Given the description of an element on the screen output the (x, y) to click on. 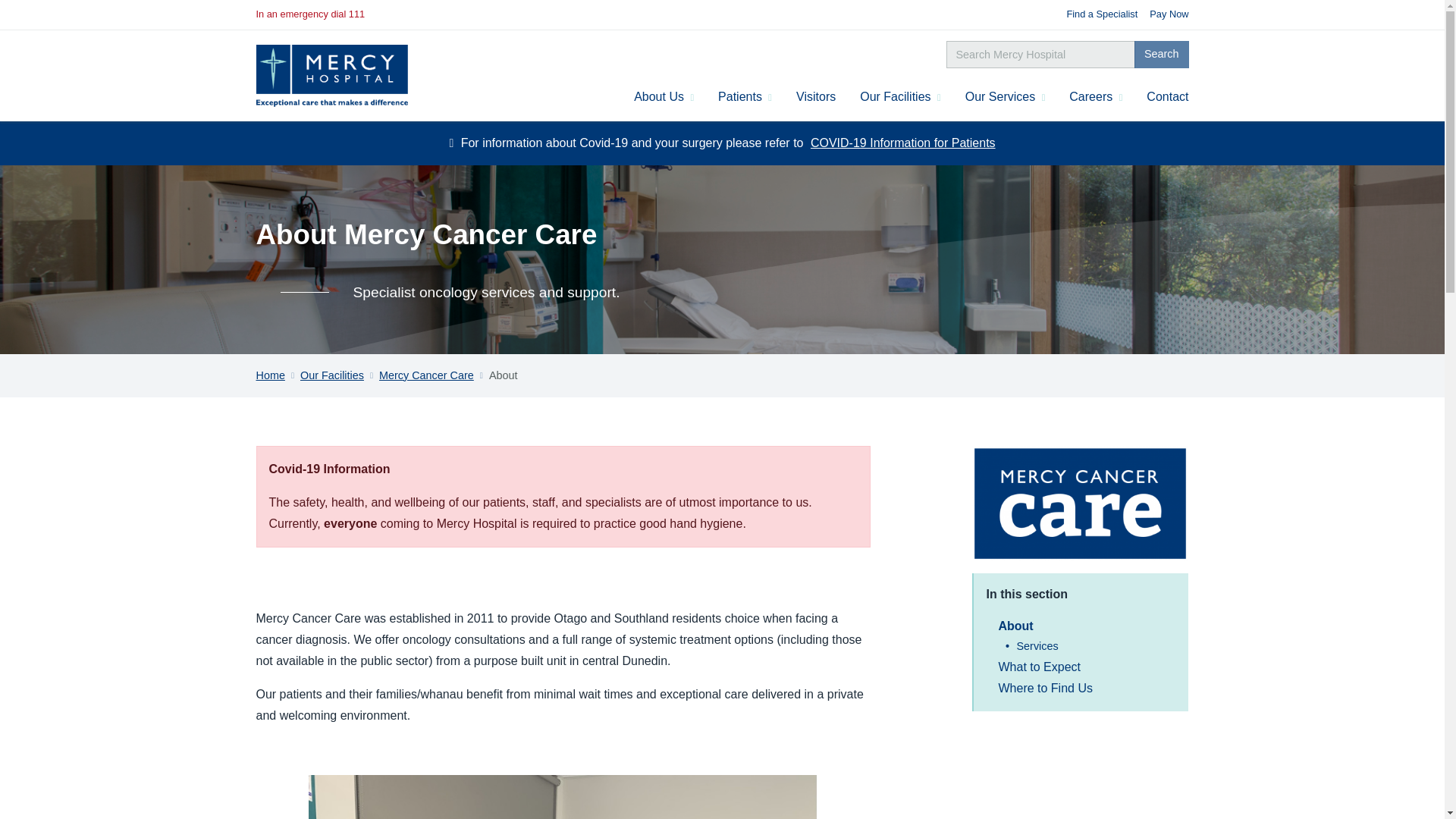
Pay Now (1169, 13)
About Us (663, 96)
Patients (745, 96)
Our Services (1005, 96)
Find a Specialist (1101, 13)
Search (1161, 53)
Contact (1166, 96)
Our Facilities (899, 96)
Careers (1095, 96)
Visitors (815, 96)
